Given the description of an element on the screen output the (x, y) to click on. 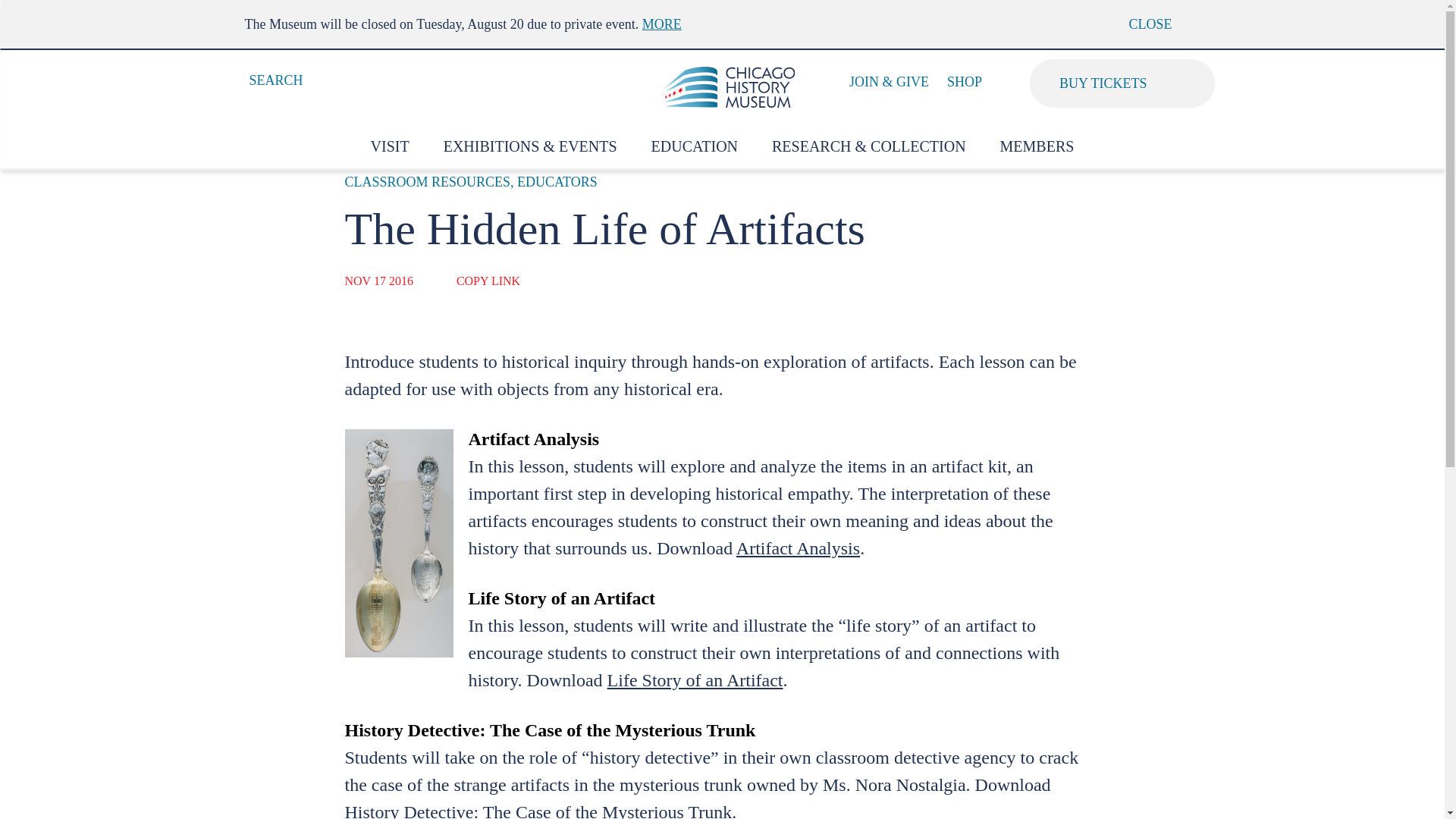
MORE (661, 24)
VISIT (390, 147)
CLOSE (1160, 24)
EDUCATION (694, 147)
BUY TICKETS (1122, 82)
SEARCH (265, 79)
SHOP (964, 82)
